Given the description of an element on the screen output the (x, y) to click on. 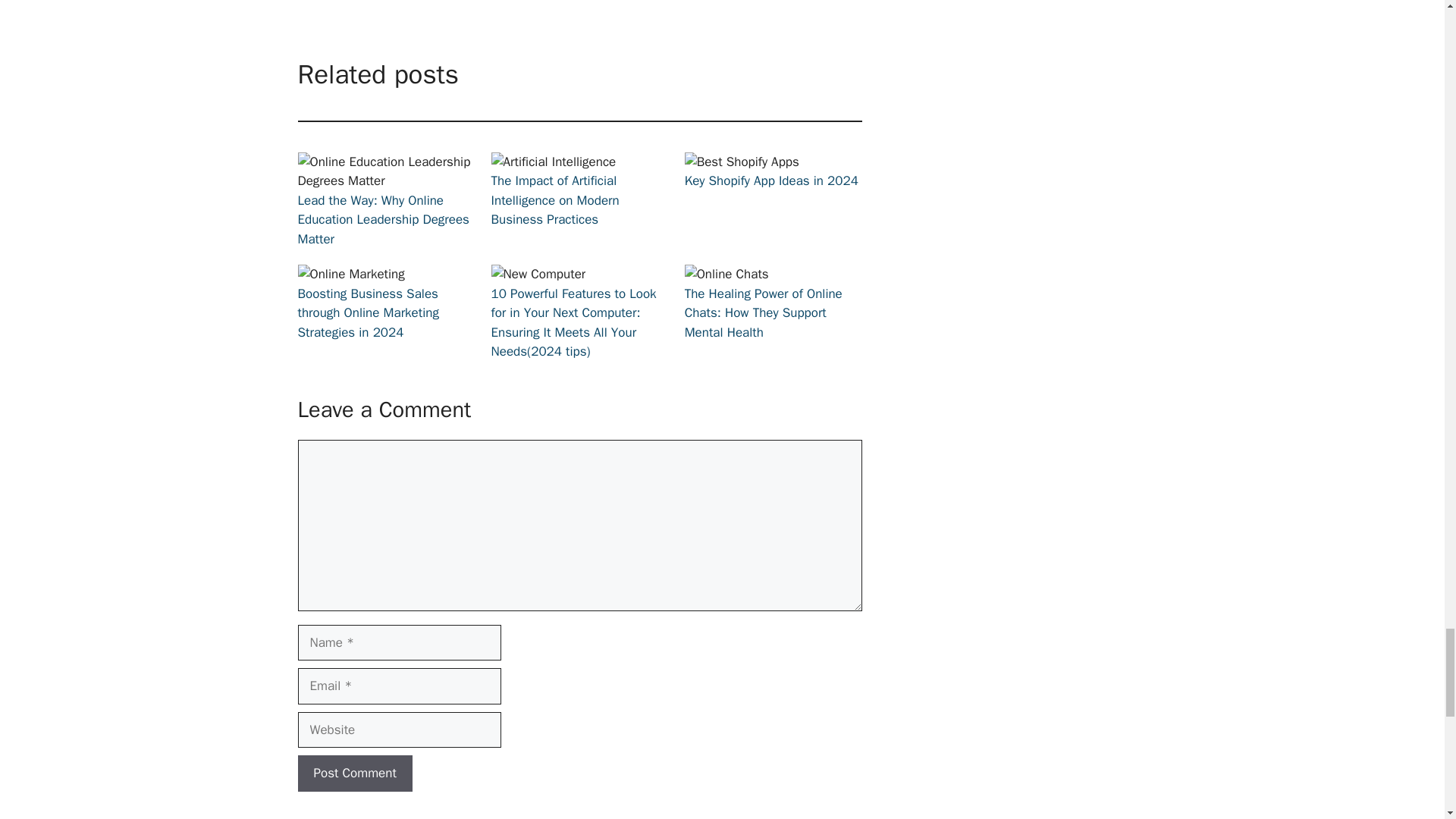
Post Comment (354, 773)
